Given the description of an element on the screen output the (x, y) to click on. 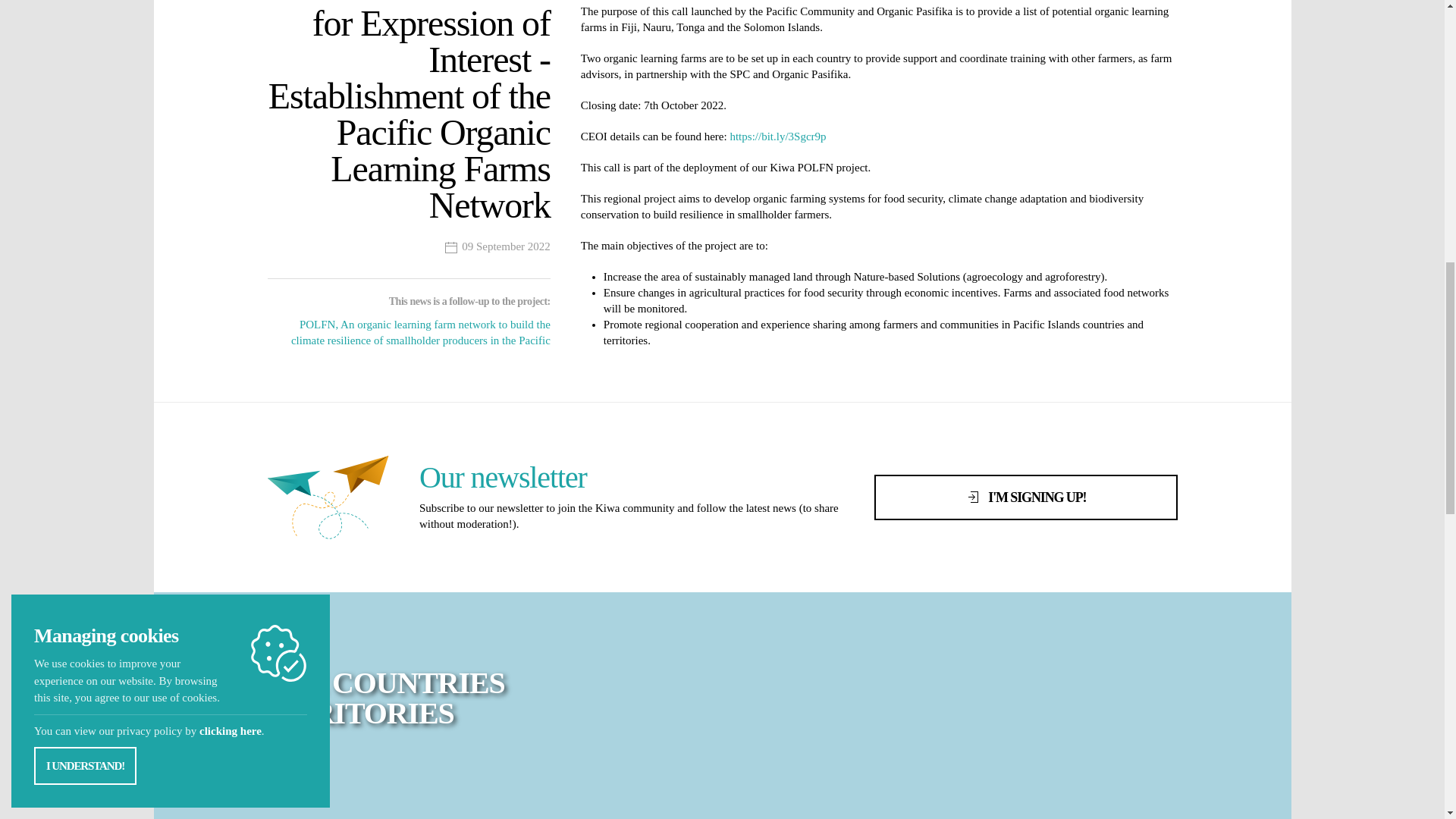
Newsletter subscription (1025, 497)
